Given the description of an element on the screen output the (x, y) to click on. 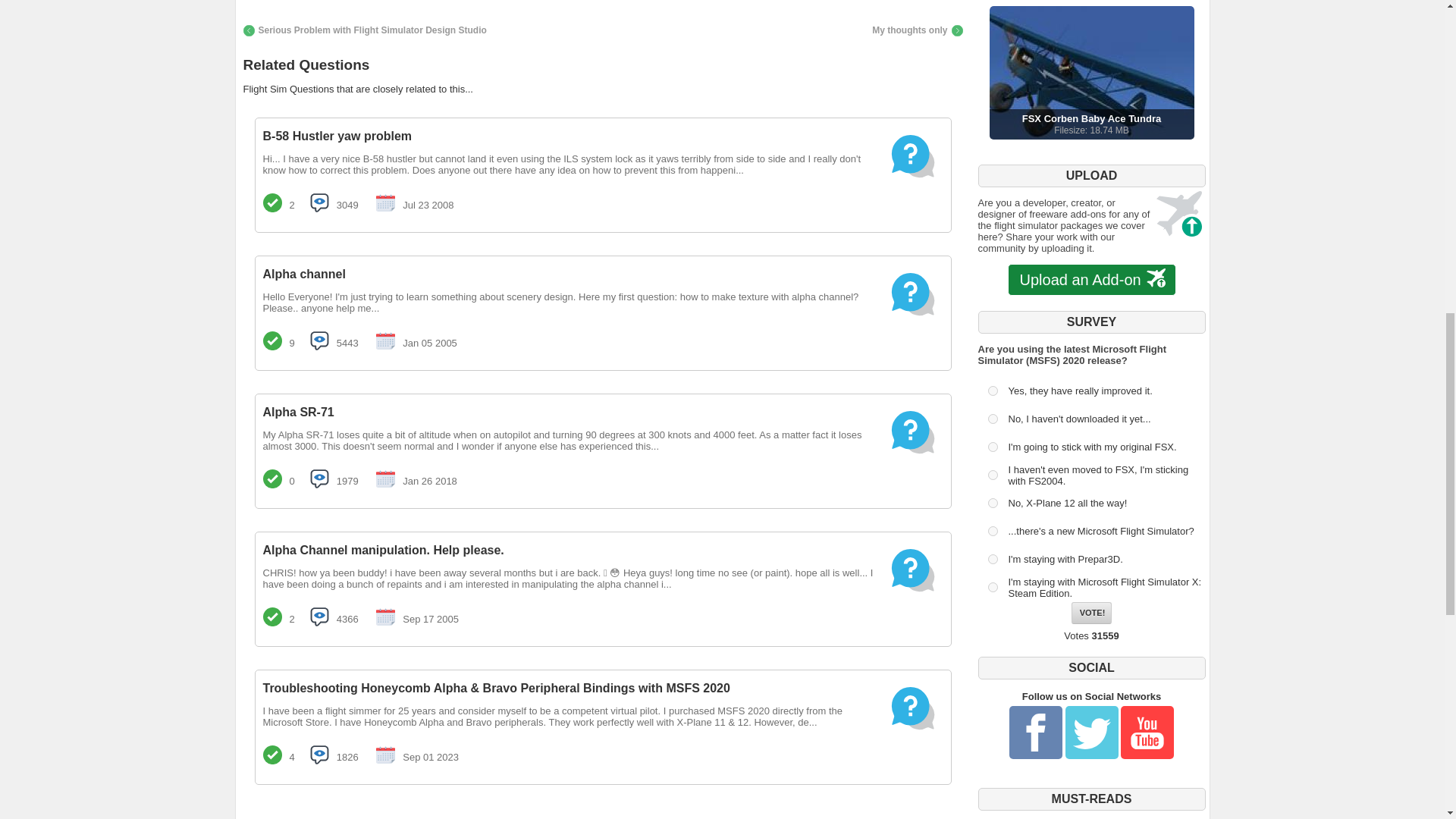
4 (1090, 72)
2 (992, 474)
Number of views this question has had (992, 419)
6 (319, 202)
Number of answers to the question (992, 531)
Previous Question (271, 340)
My thoughts only (364, 30)
5 (917, 30)
The date this question was first asked (992, 502)
Upload an Add-on (384, 202)
9 (1090, 279)
1 (992, 587)
